Given the description of an element on the screen output the (x, y) to click on. 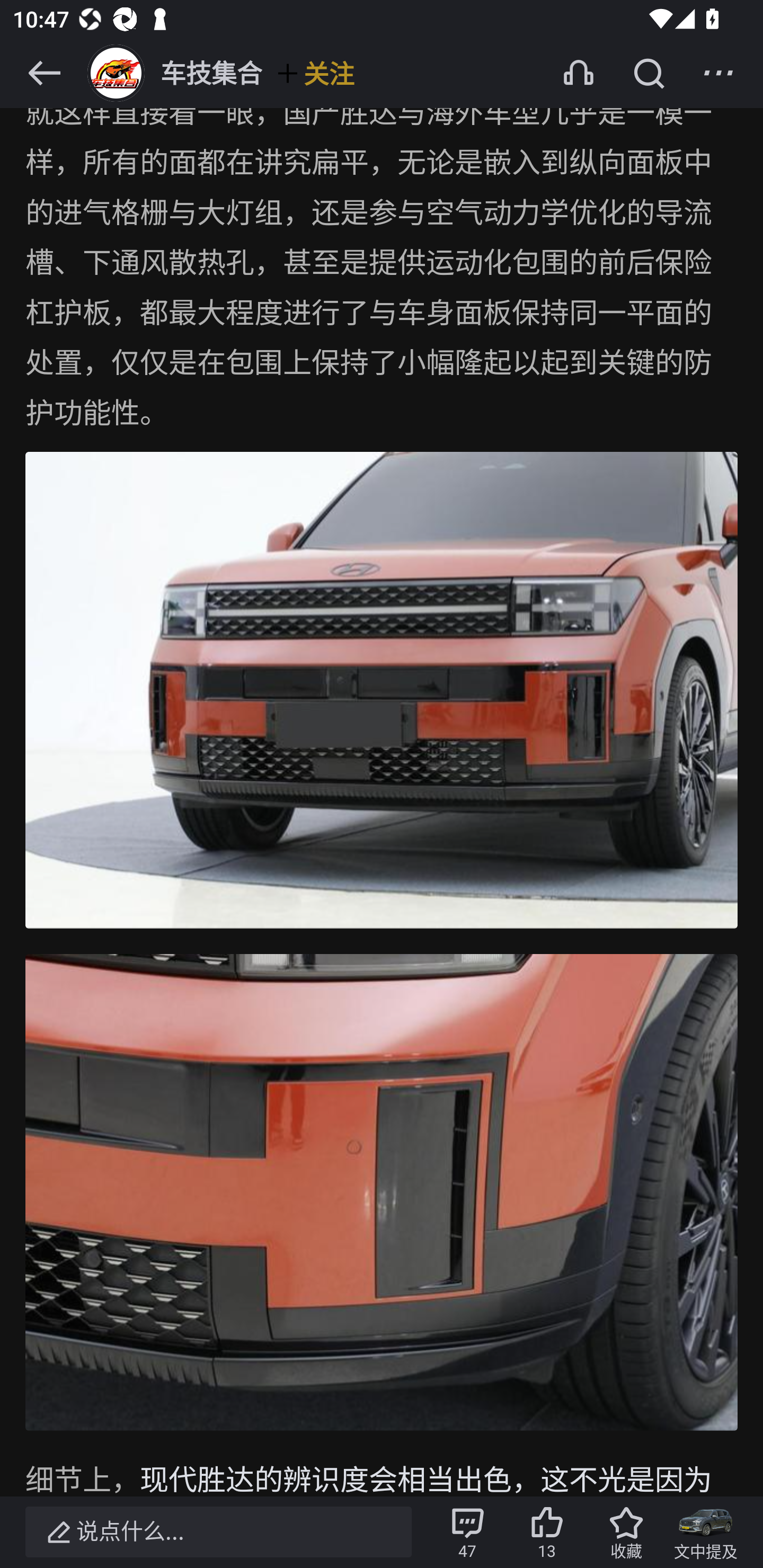
车技集合 (172, 72)
 (44, 72)
 (648, 72)
 (718, 72)
 关注 (314, 73)
nmFFGsPuVVfmjxNdkYq3-JwMuEs (381, 692)
PgUDn-oth7UH3Ydp7lgvt9LBOoA (381, 1193)
 47 (467, 1531)
13 (546, 1531)
收藏 (625, 1531)
文中提及 (705, 1531)
 说点什么... (218, 1531)
